Given the description of an element on the screen output the (x, y) to click on. 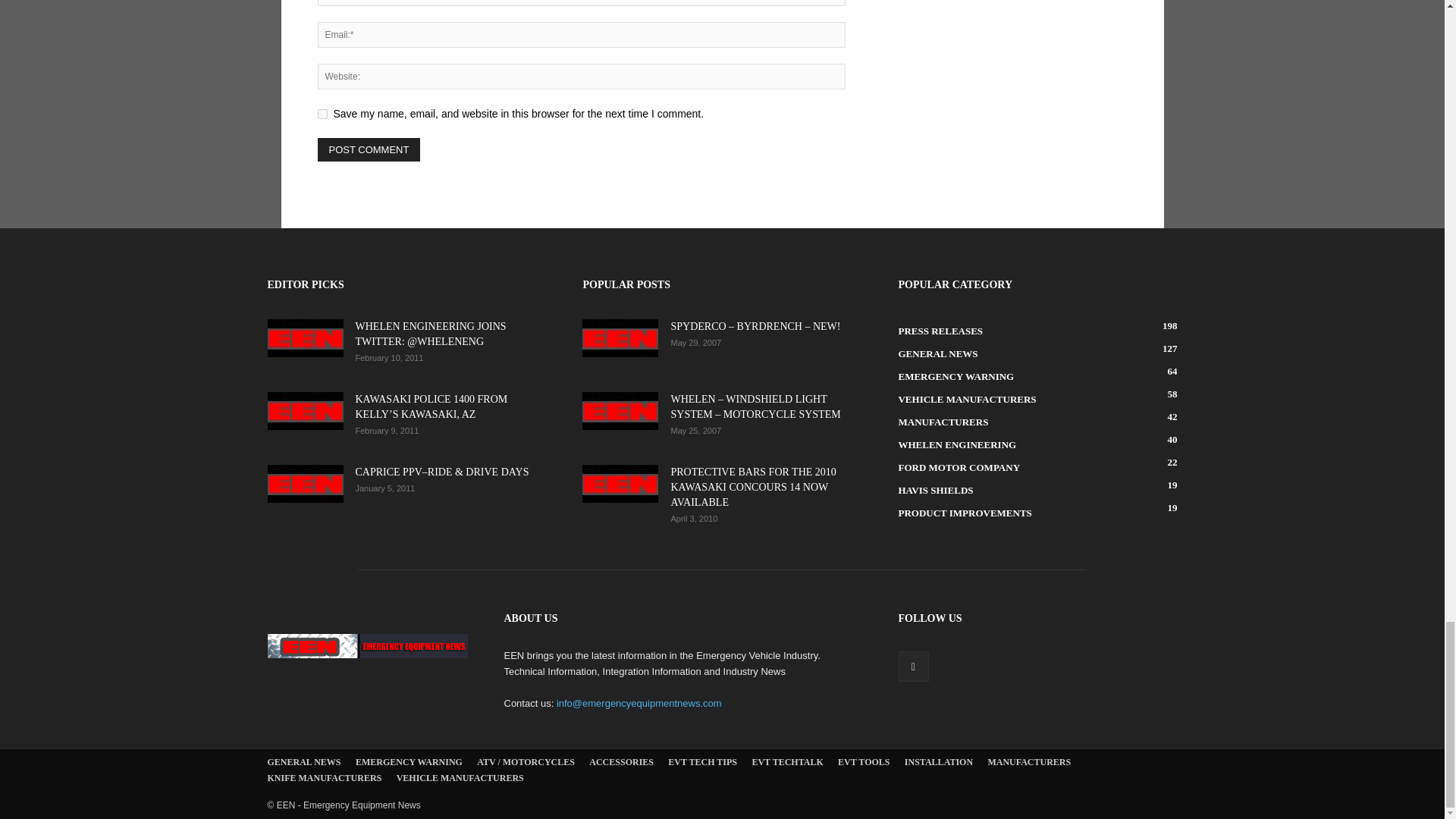
Post Comment (368, 149)
yes (321, 113)
